Given the description of an element on the screen output the (x, y) to click on. 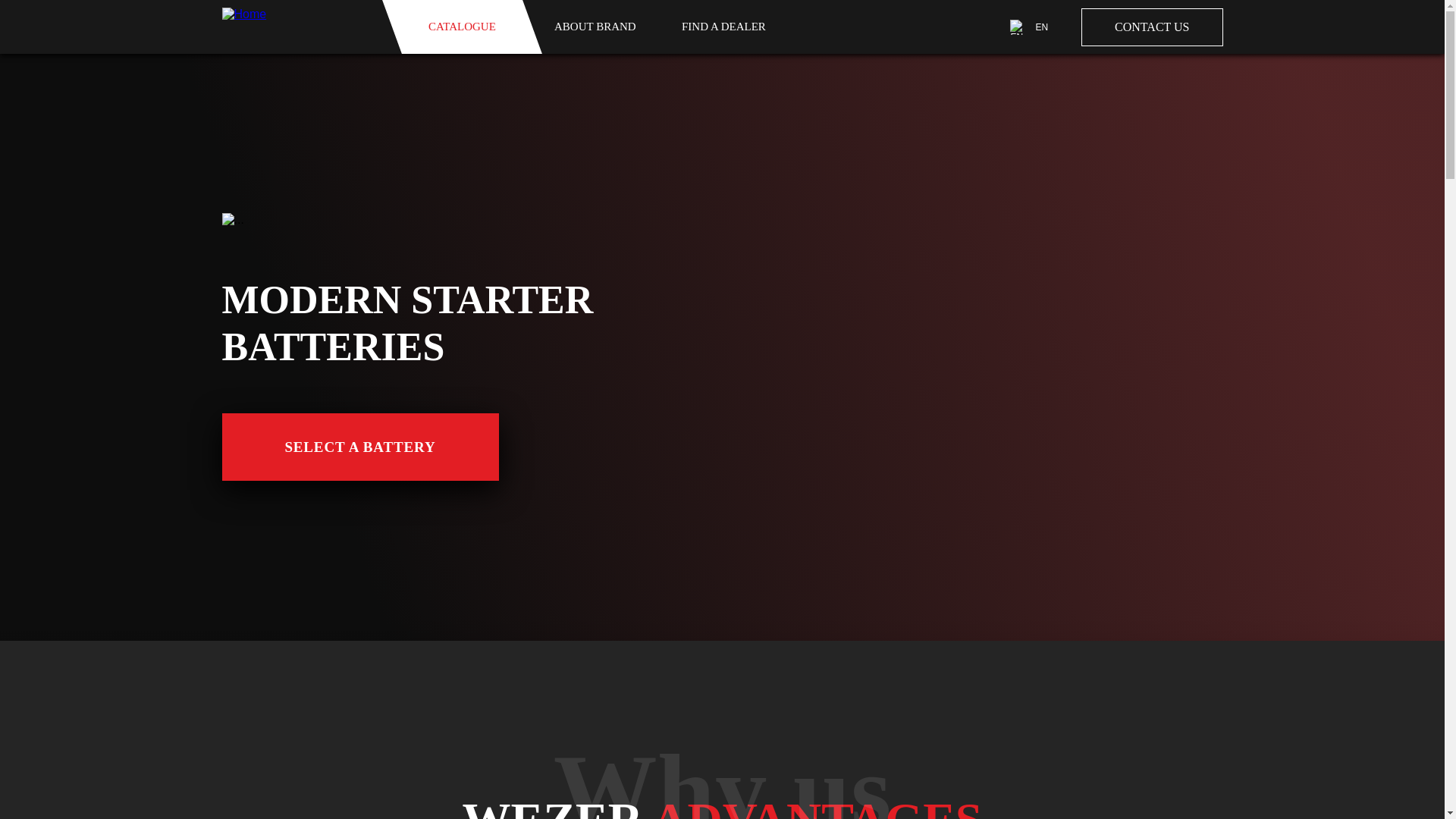
Home (296, 27)
FIND A DEALER (724, 27)
SELECT A BATTERY (359, 446)
CATALOGUE (461, 27)
Catalogue (461, 27)
About brand (595, 27)
Contact us (1152, 26)
CONTACT US (1152, 26)
Find a dealer (724, 27)
ABOUT BRAND (595, 27)
